Given the description of an element on the screen output the (x, y) to click on. 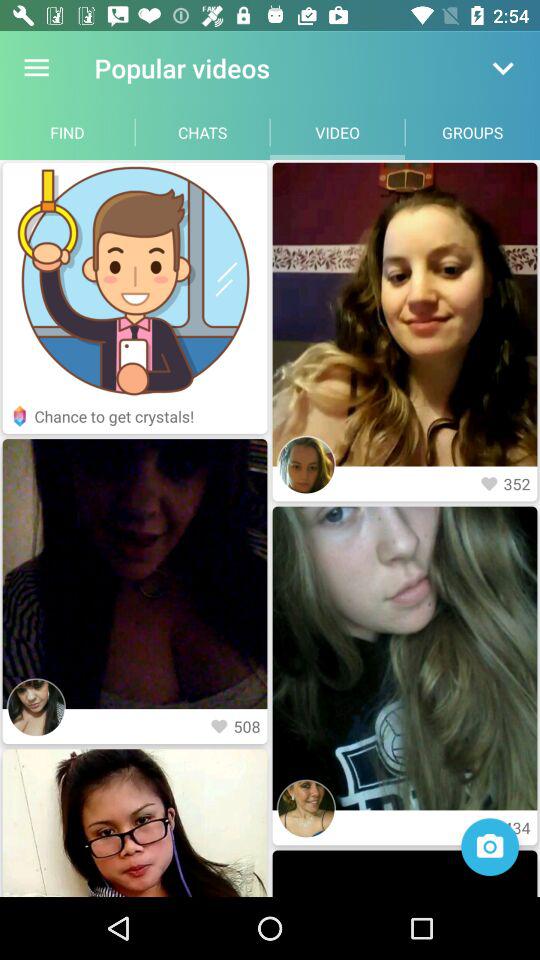
open the icon below the popular videos item (202, 132)
